Given the description of an element on the screen output the (x, y) to click on. 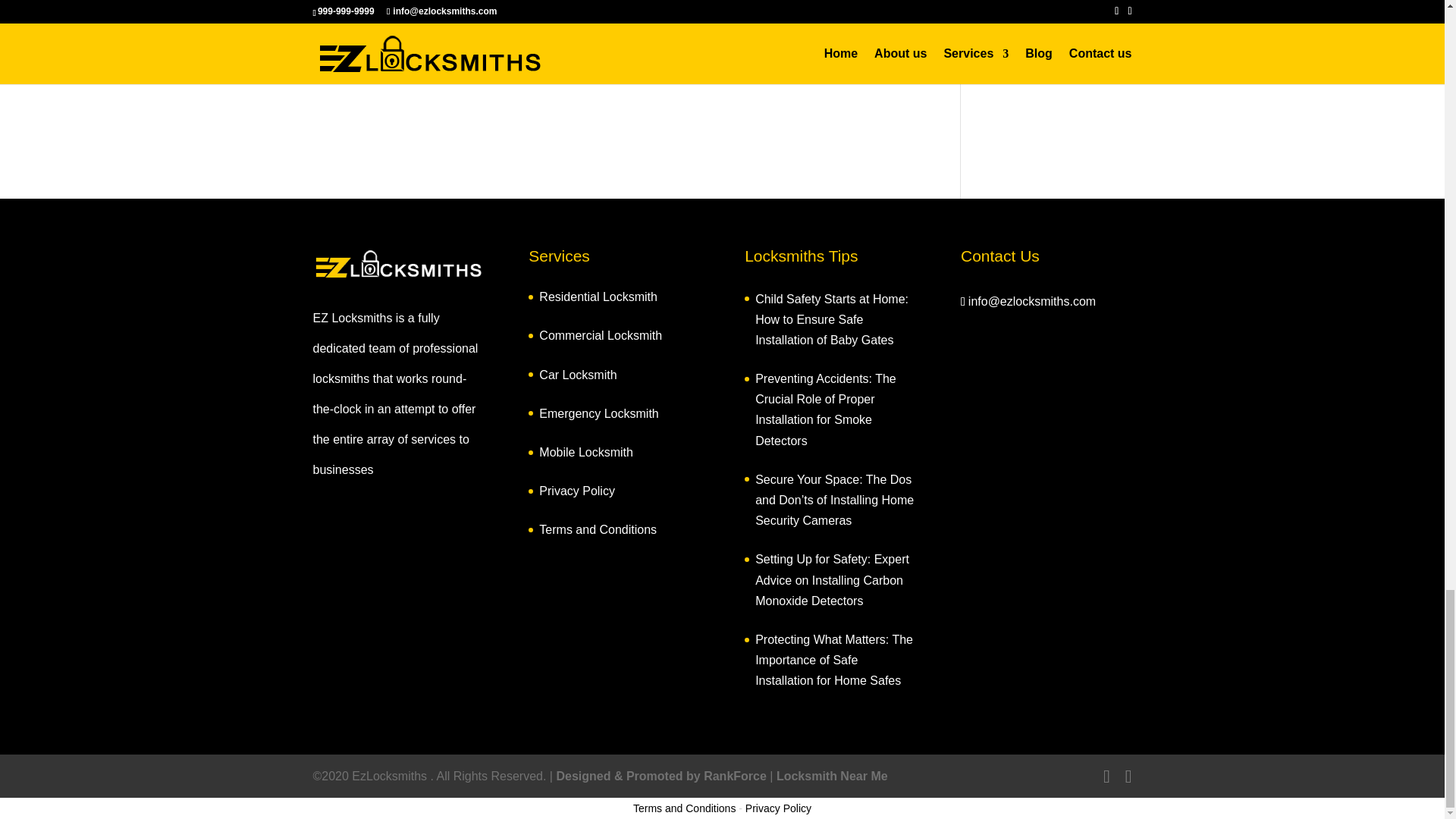
yes (319, 17)
Submit Comment (840, 59)
